Given the description of an element on the screen output the (x, y) to click on. 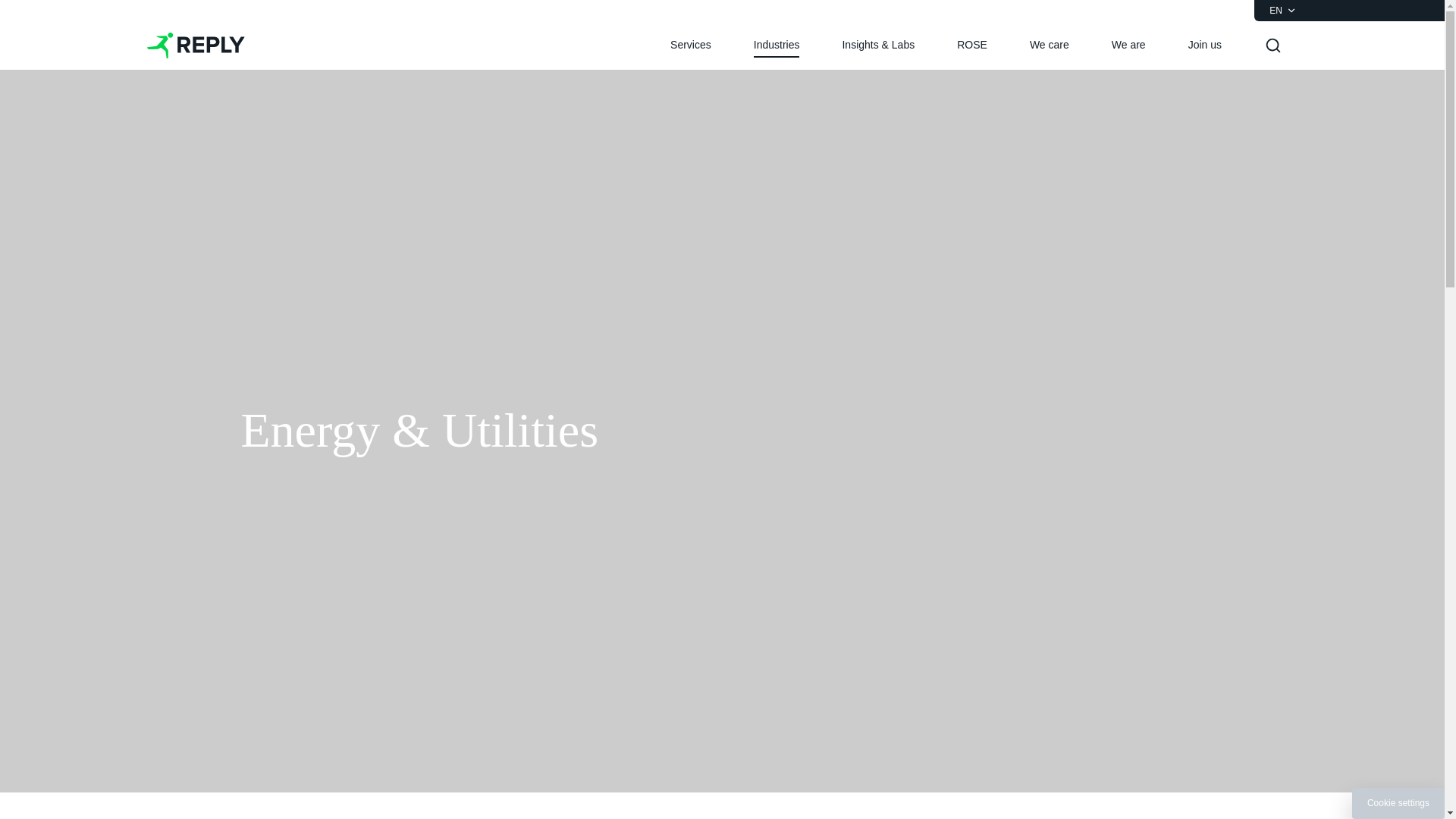
Reply Logo (195, 45)
Industries (776, 45)
Reply Logo (195, 45)
search (1273, 45)
EN (1283, 10)
Reply (195, 45)
